Given the description of an element on the screen output the (x, y) to click on. 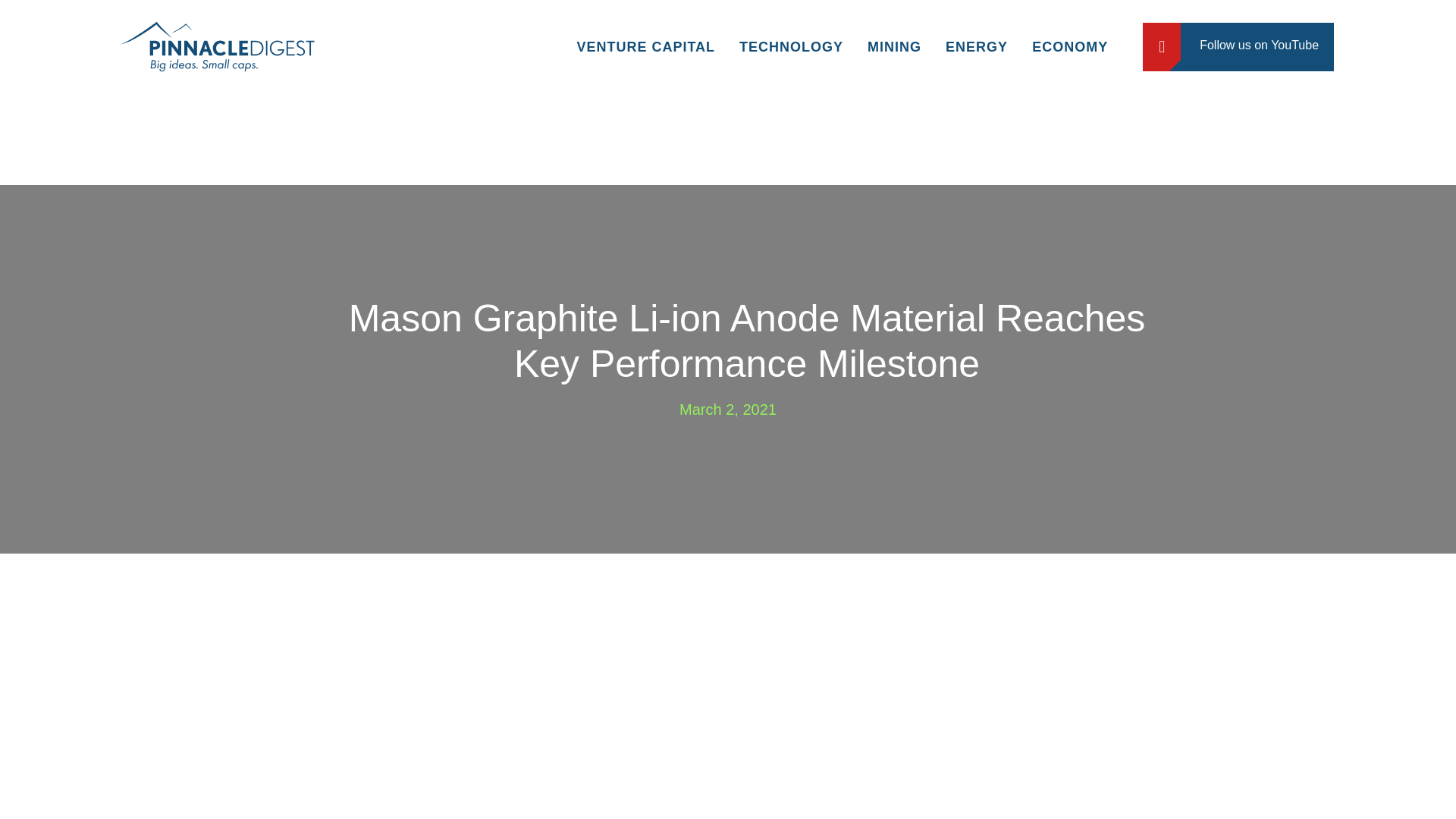
ENERGY (976, 46)
MINING (894, 46)
VENTURE CAPITAL (645, 46)
TECHNOLOGY (791, 46)
ECONOMY (1069, 46)
Follow us on YouTube (1237, 46)
March 2, 2021 (727, 408)
